Given the description of an element on the screen output the (x, y) to click on. 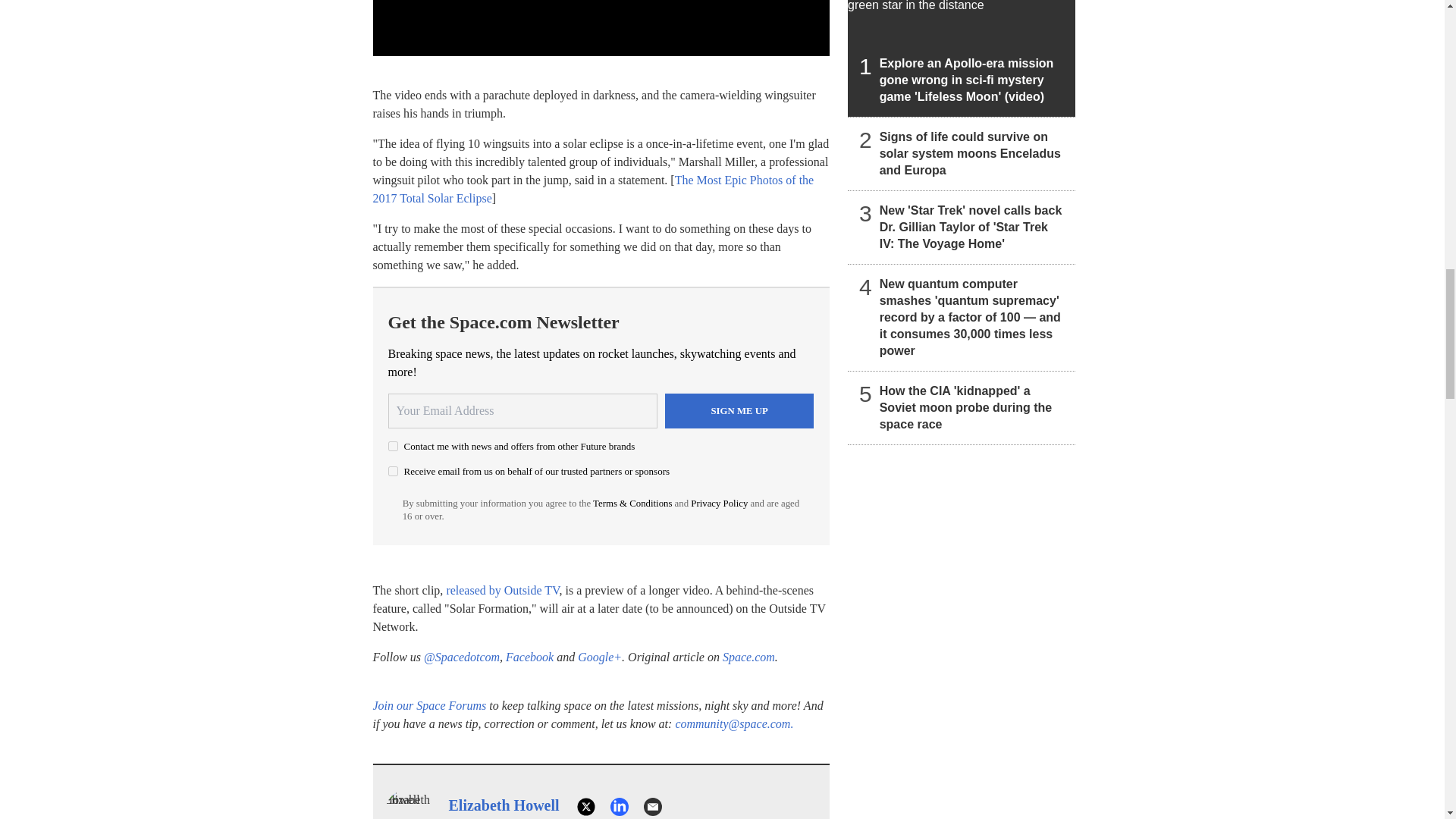
on (392, 446)
Sign me up (739, 410)
on (392, 470)
